Given the description of an element on the screen output the (x, y) to click on. 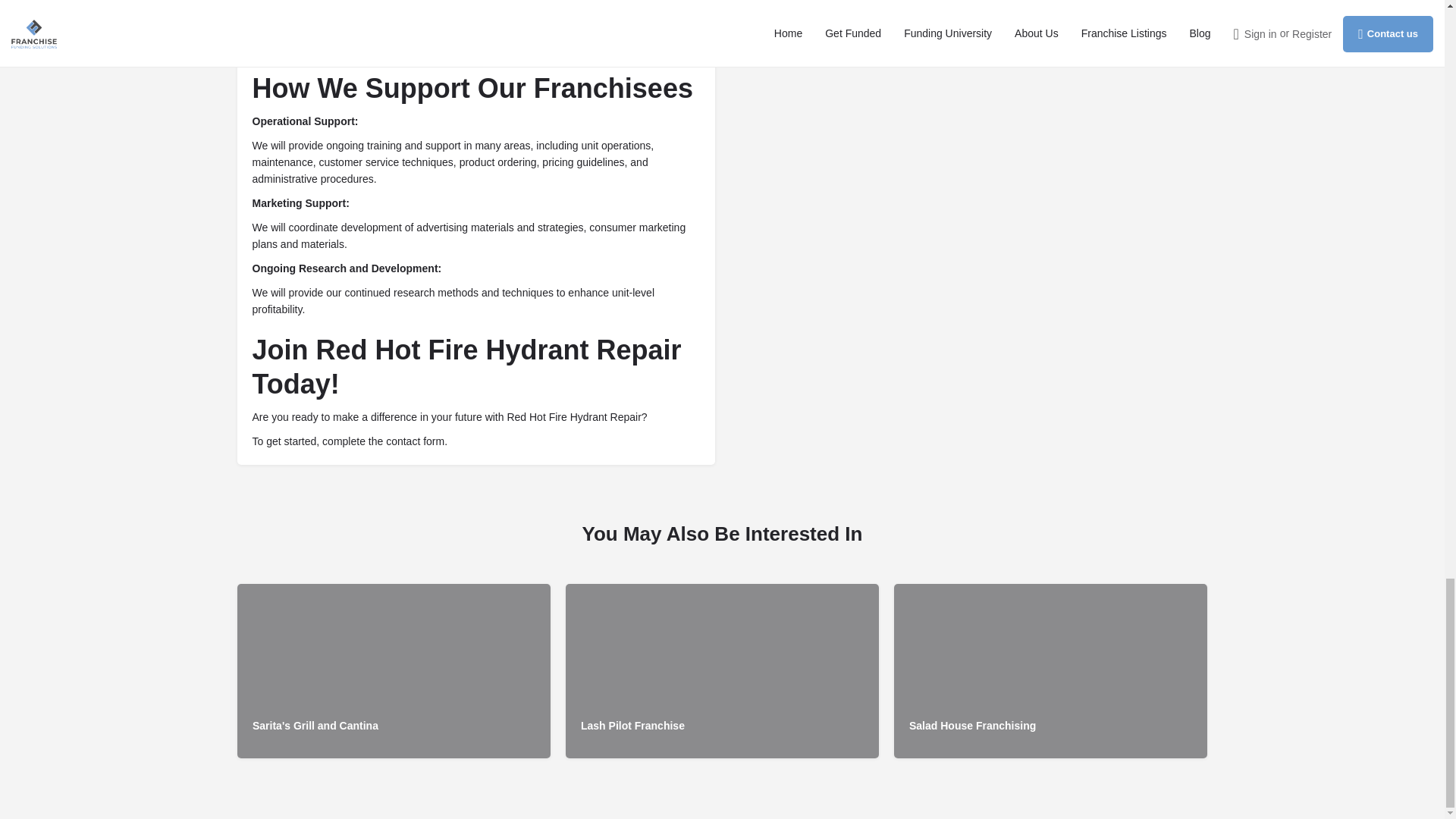
Sarita's Grill and Cantina (392, 670)
Salad House Franchising (1050, 670)
Lash Pilot Franchise (722, 670)
